Given the description of an element on the screen output the (x, y) to click on. 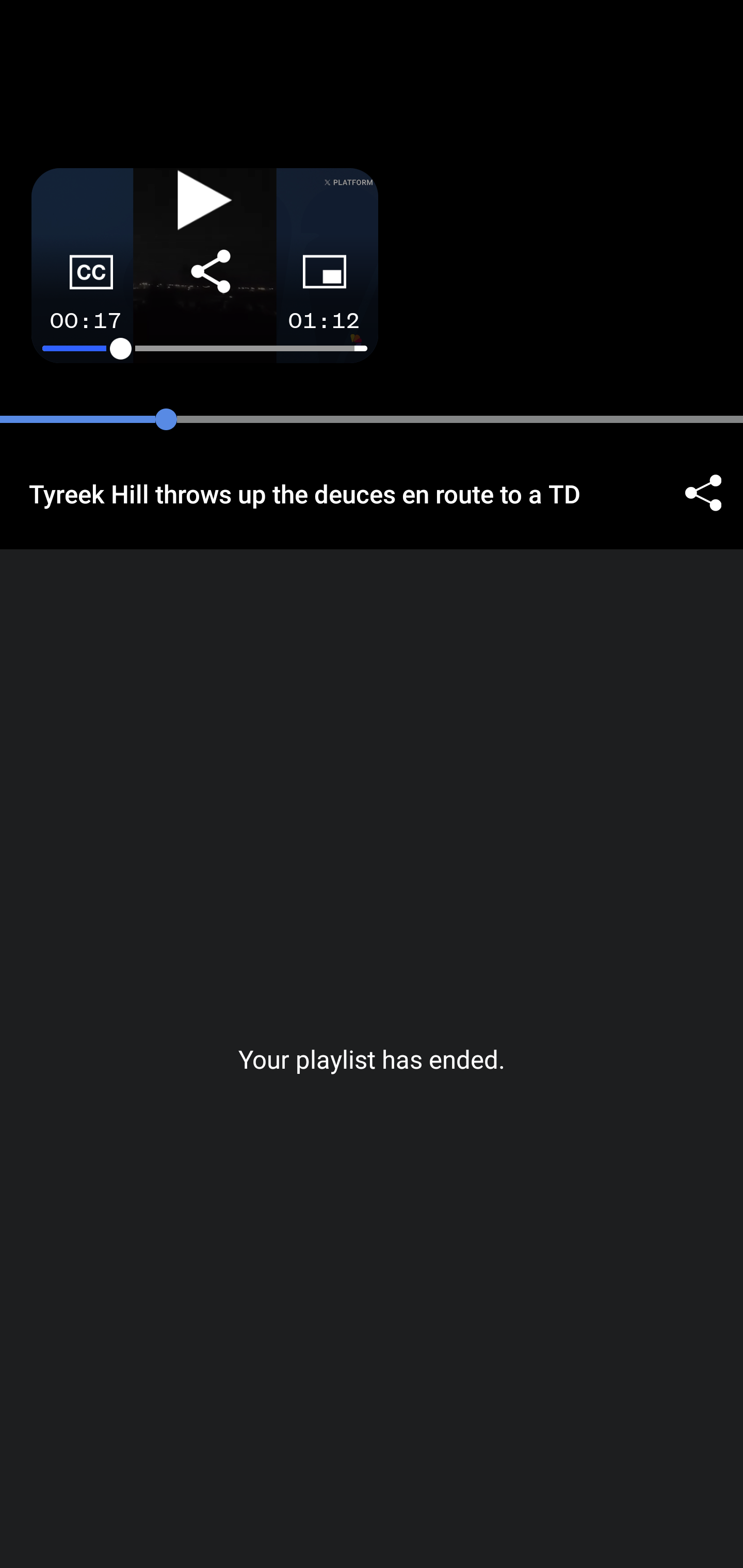
Share © (703, 493)
